Given the description of an element on the screen output the (x, y) to click on. 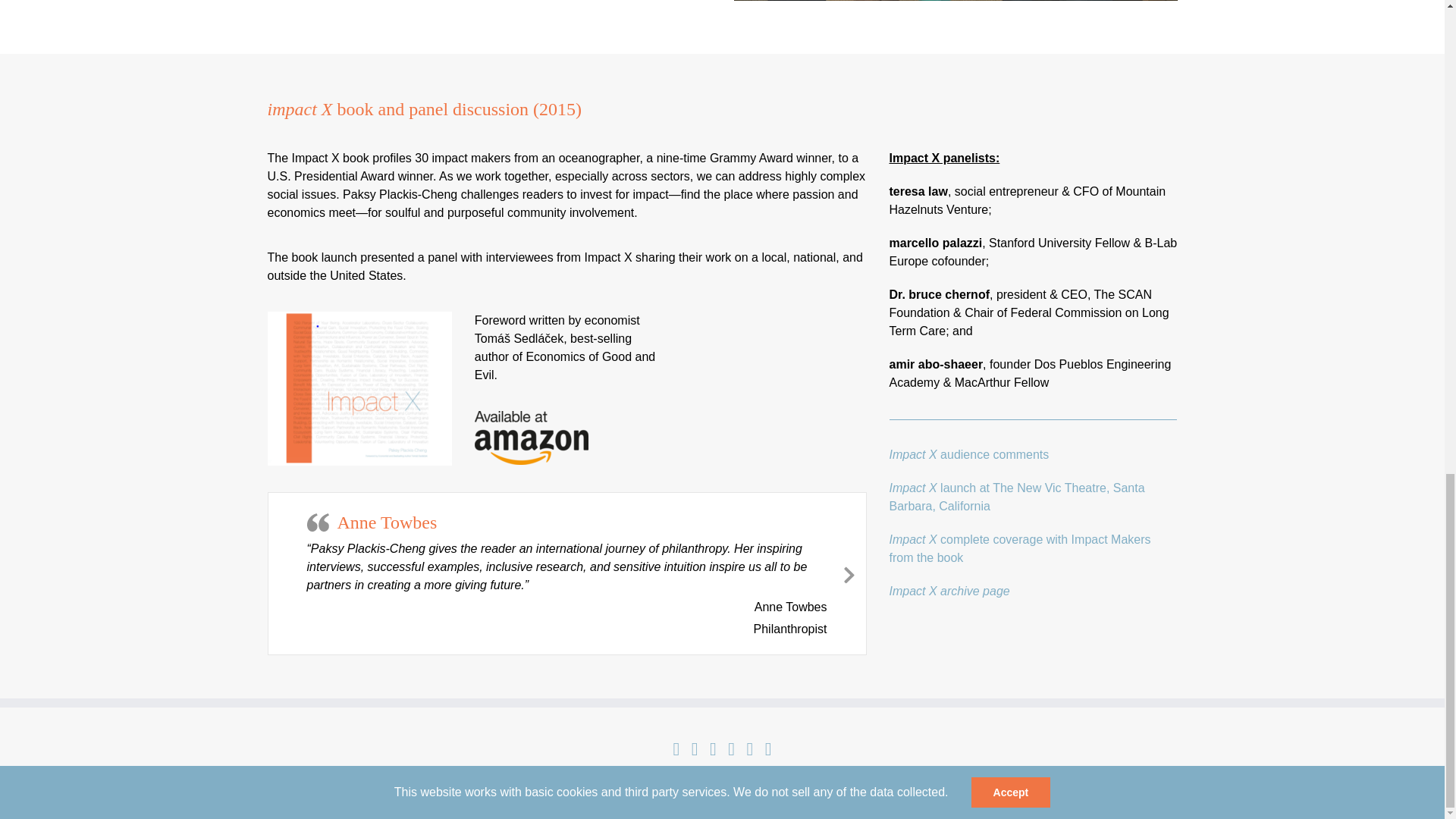
One of the First Commercial Urban Farm in Latin America (488, 2)
amazon (531, 438)
Impact X Book Cover (358, 389)
